Given the description of an element on the screen output the (x, y) to click on. 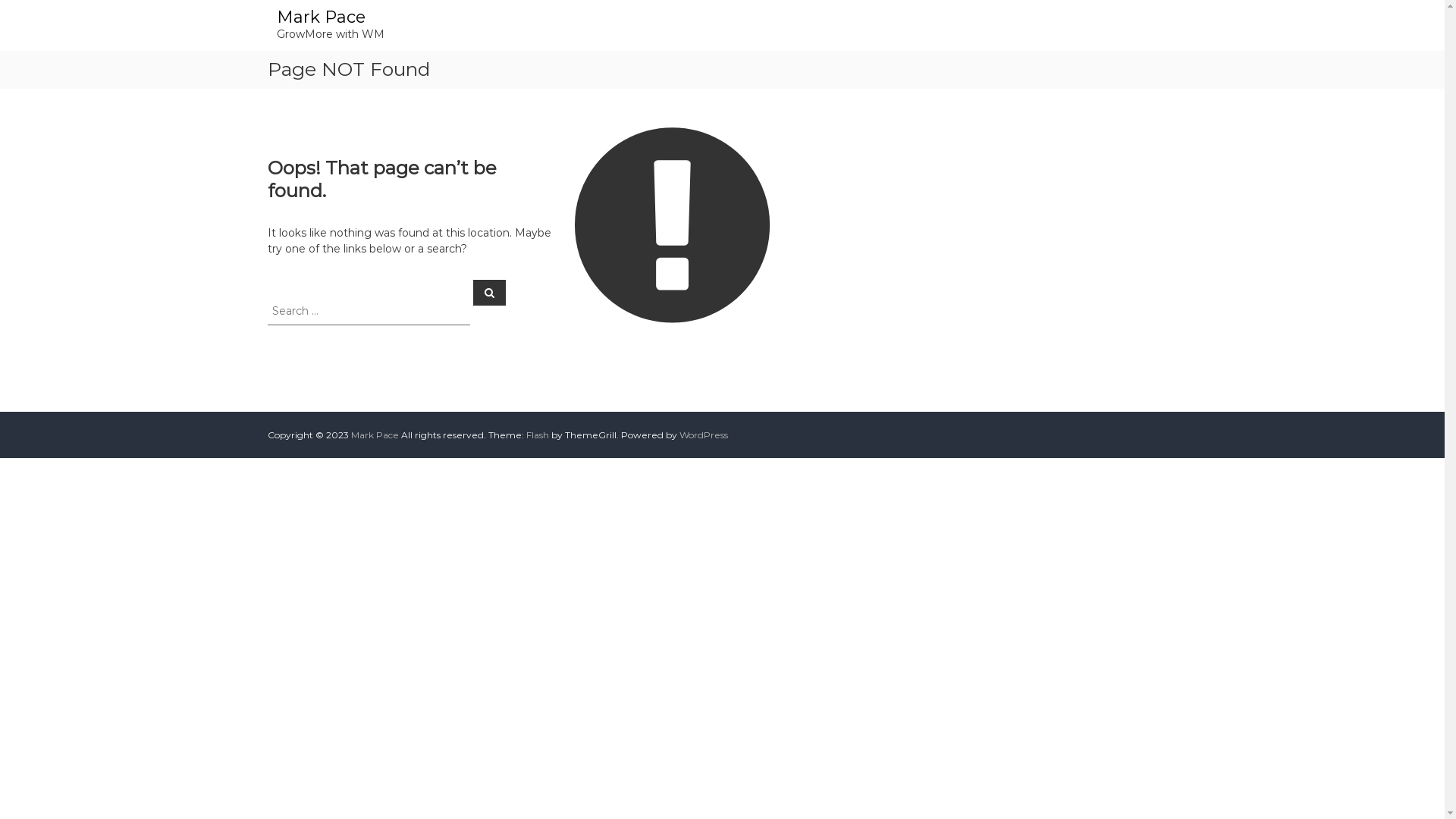
Mark Pace Element type: text (320, 16)
Search Element type: text (489, 291)
Flash Element type: text (537, 434)
WordPress Element type: text (703, 434)
Mark Pace Element type: text (374, 434)
